Given the description of an element on the screen output the (x, y) to click on. 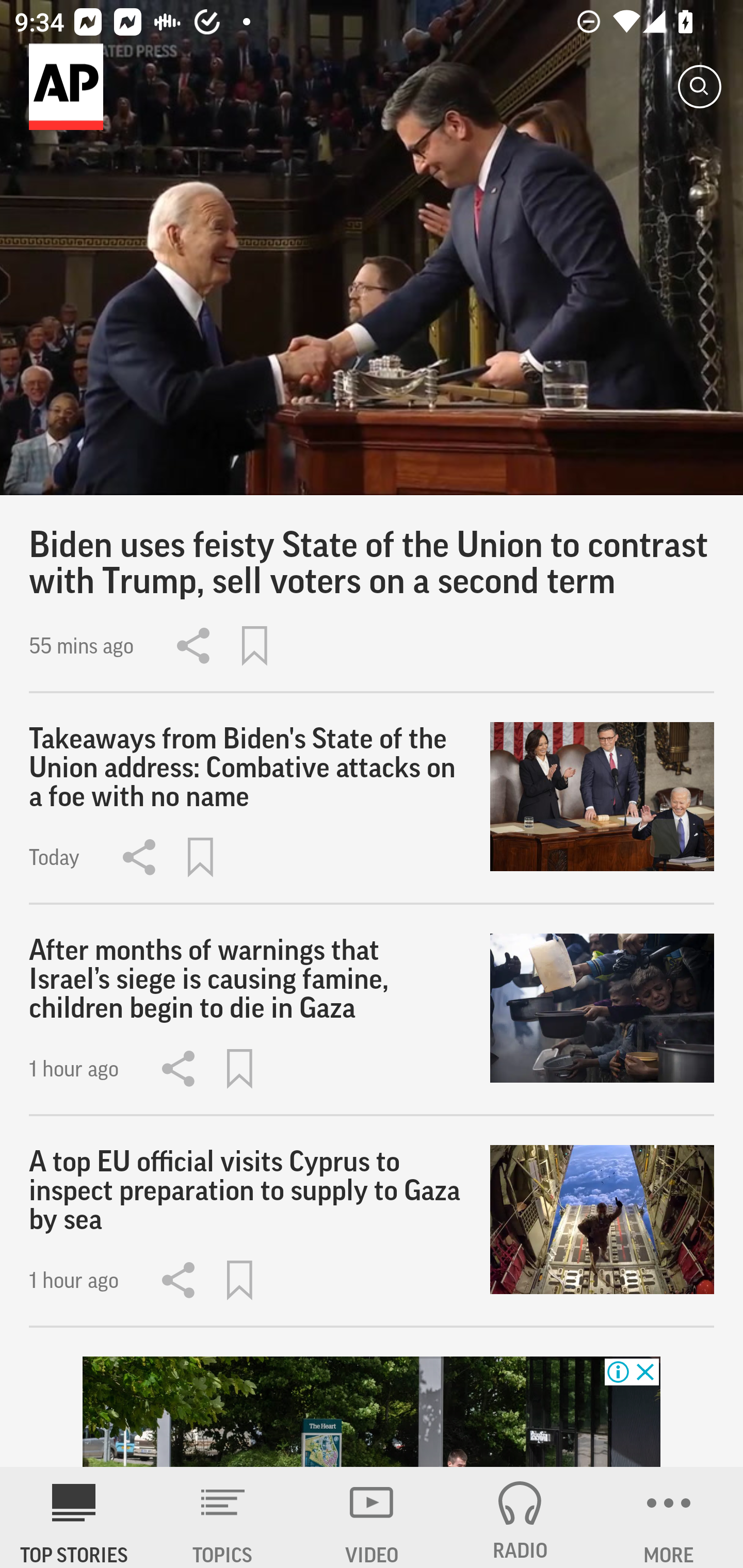
AP News TOP STORIES (74, 1517)
TOPICS (222, 1517)
VIDEO (371, 1517)
RADIO (519, 1517)
MORE (668, 1517)
